Given the description of an element on the screen output the (x, y) to click on. 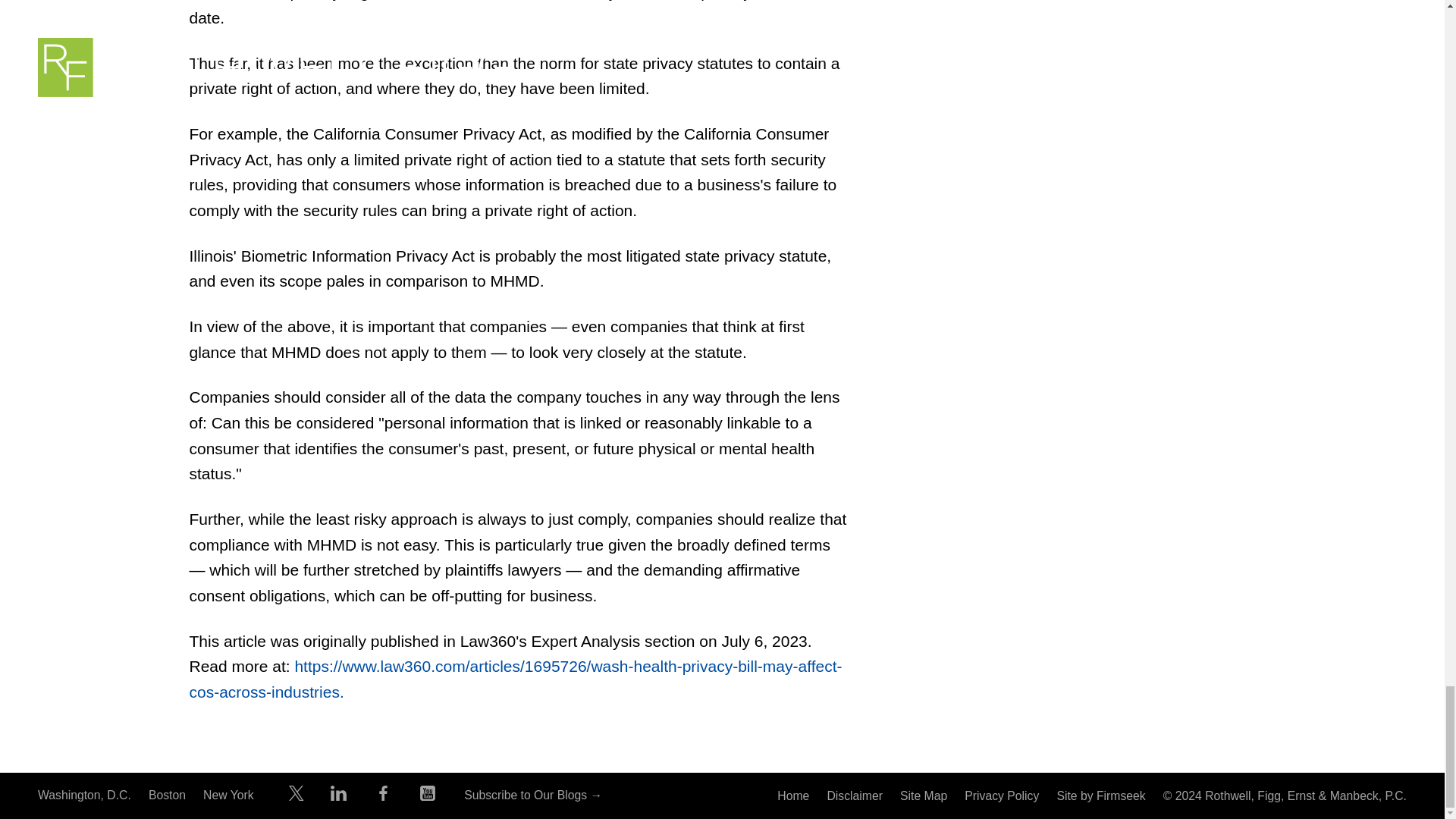
YouTube (427, 796)
LinkedIn (338, 796)
LinkedIn Icon (338, 792)
YouTube Icon (427, 792)
